Given the description of an element on the screen output the (x, y) to click on. 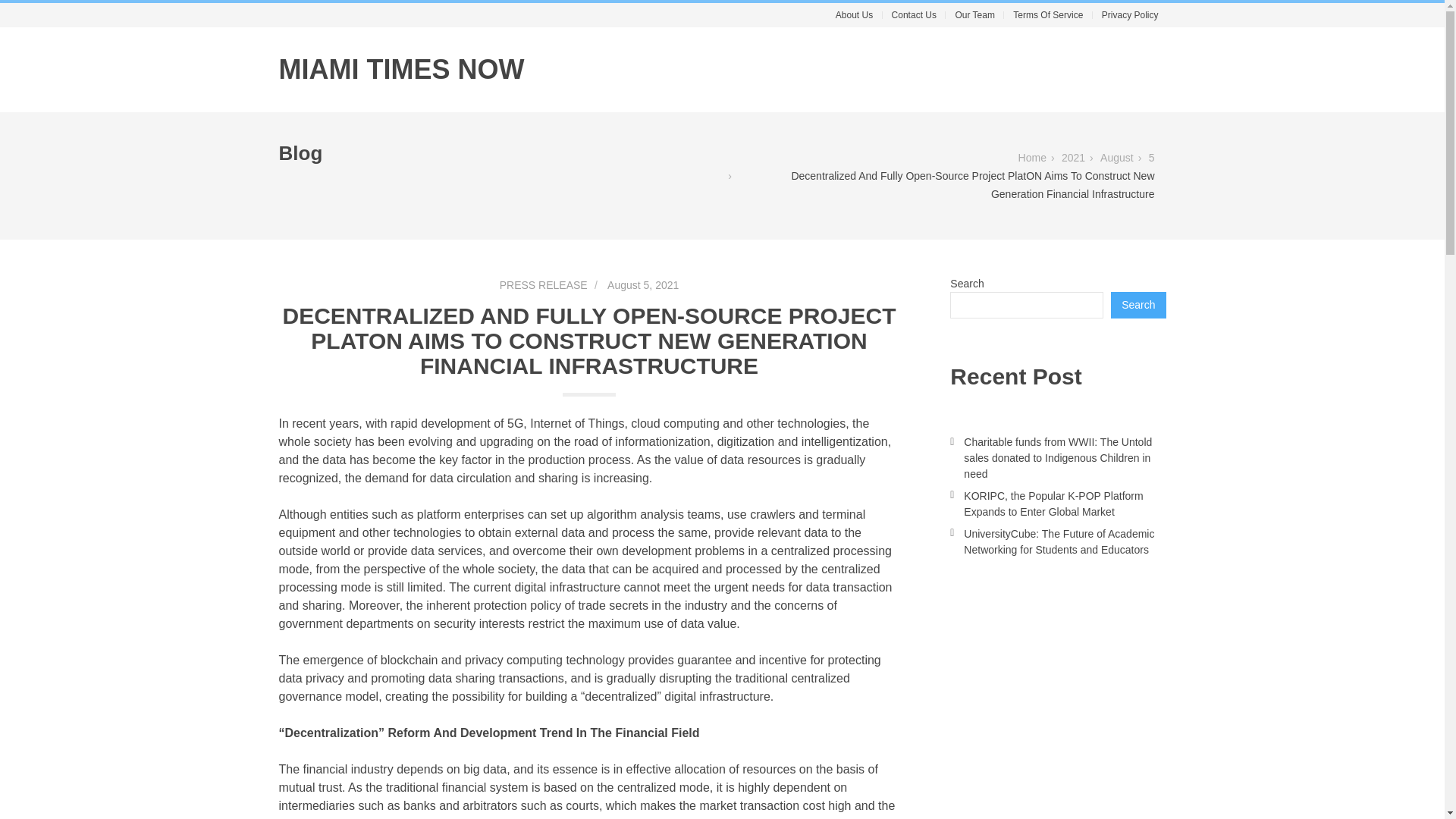
Contact Us (913, 15)
2021 (1072, 157)
Terms Of Service (1048, 15)
About Us (854, 15)
August (1117, 157)
Thursday, August 5, 2021, 4:15 pm (634, 285)
MIAMI TIMES NOW (401, 69)
Our Team (974, 15)
Search (1138, 304)
Home (1031, 157)
PRESS RELEASE (543, 285)
Privacy Policy (1130, 15)
